Given the description of an element on the screen output the (x, y) to click on. 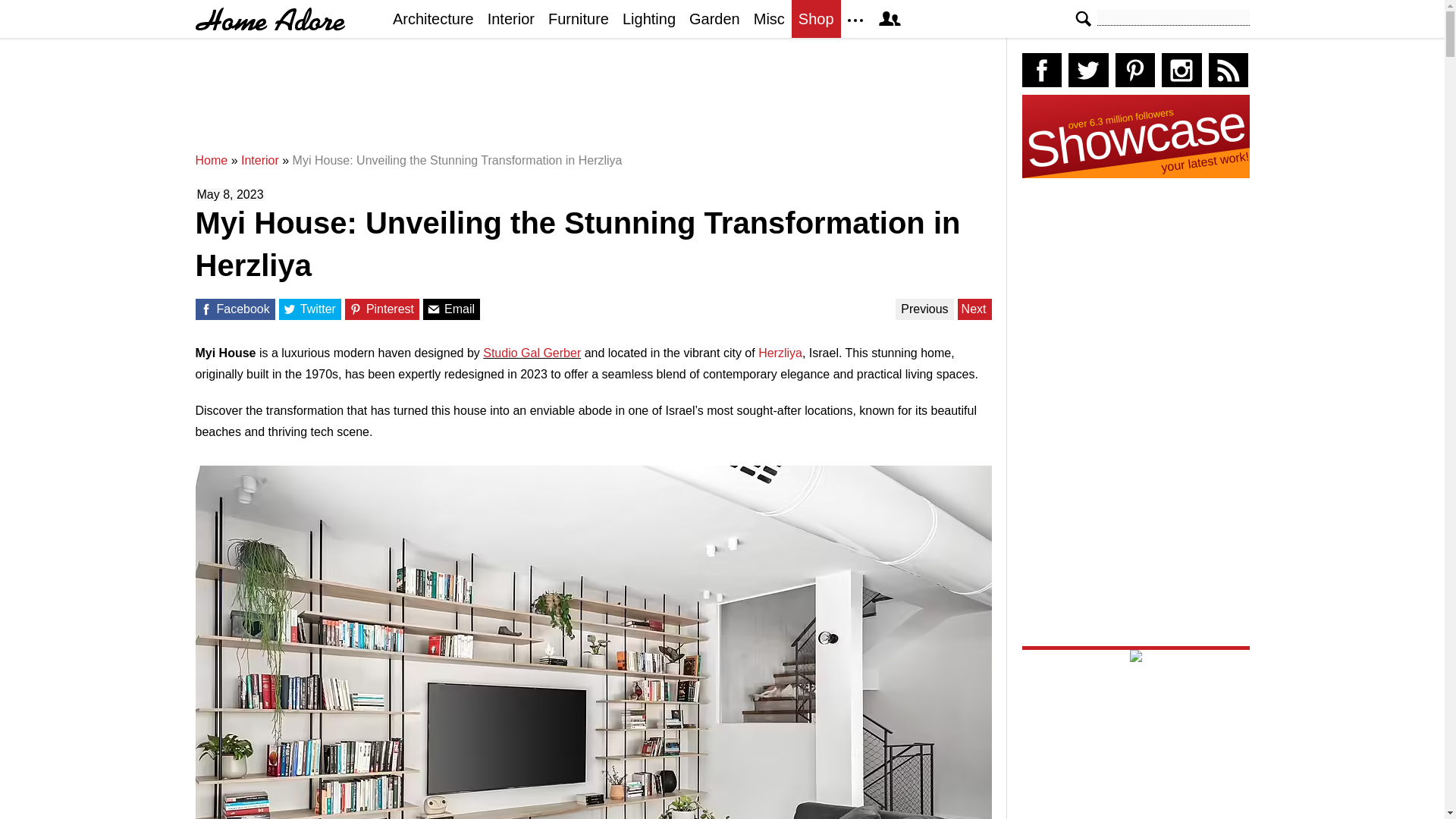
Furniture (578, 18)
Share on Facebook (205, 309)
Myi House: Unveiling the Stunning Transformation in Herzliya (457, 160)
HomeAdore (270, 19)
Member Area (889, 17)
Lighting (648, 18)
Interior (260, 160)
Shop (816, 18)
HomeAdore (270, 19)
Garden (714, 18)
Interior (260, 160)
Myi House: Unveiling the Stunning Transformation in Herzliya (457, 160)
Home (211, 160)
Architecture (432, 18)
Home (211, 160)
